Given the description of an element on the screen output the (x, y) to click on. 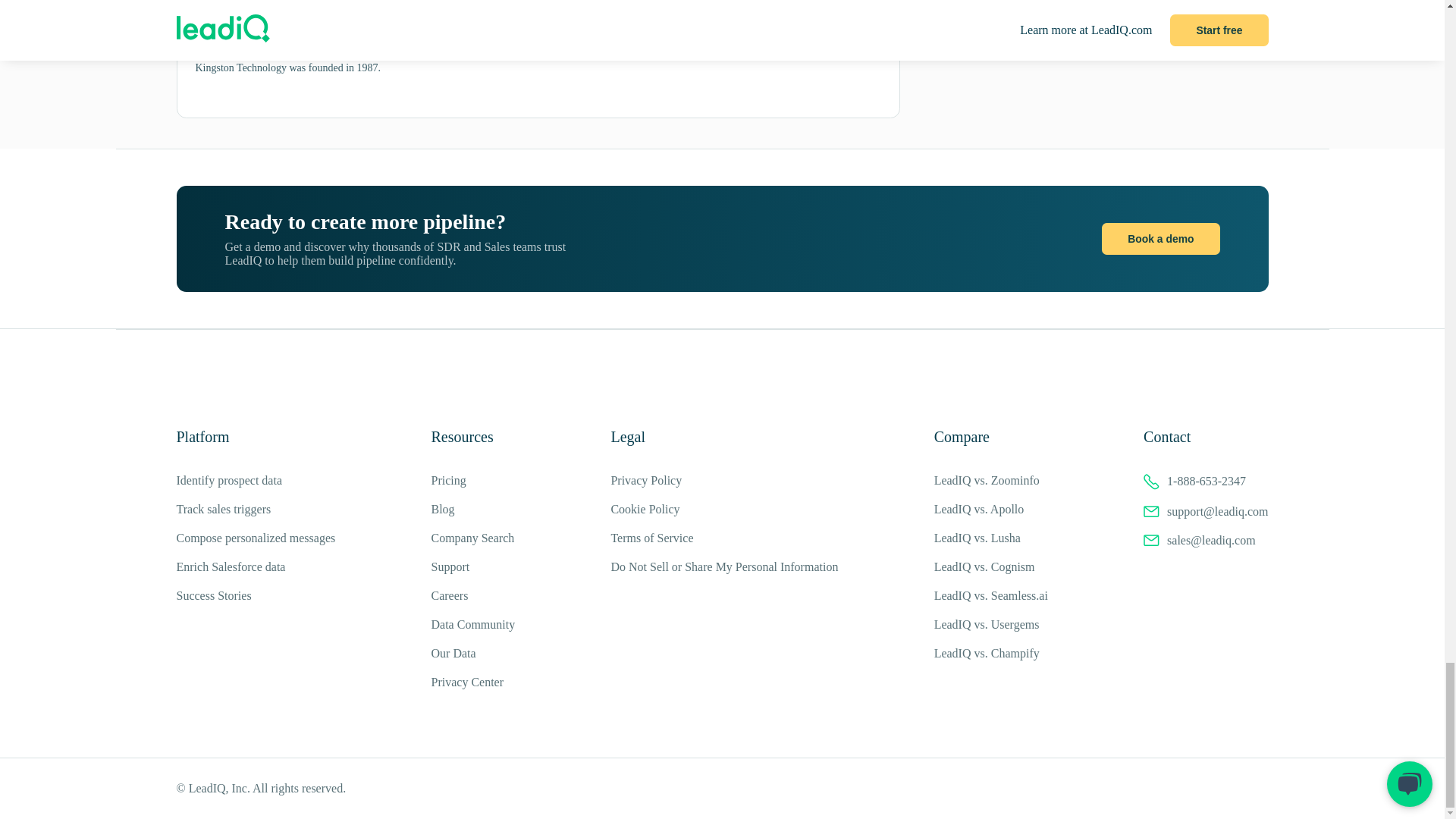
Find more Kingston Technology email formats (591, 1)
